Given the description of an element on the screen output the (x, y) to click on. 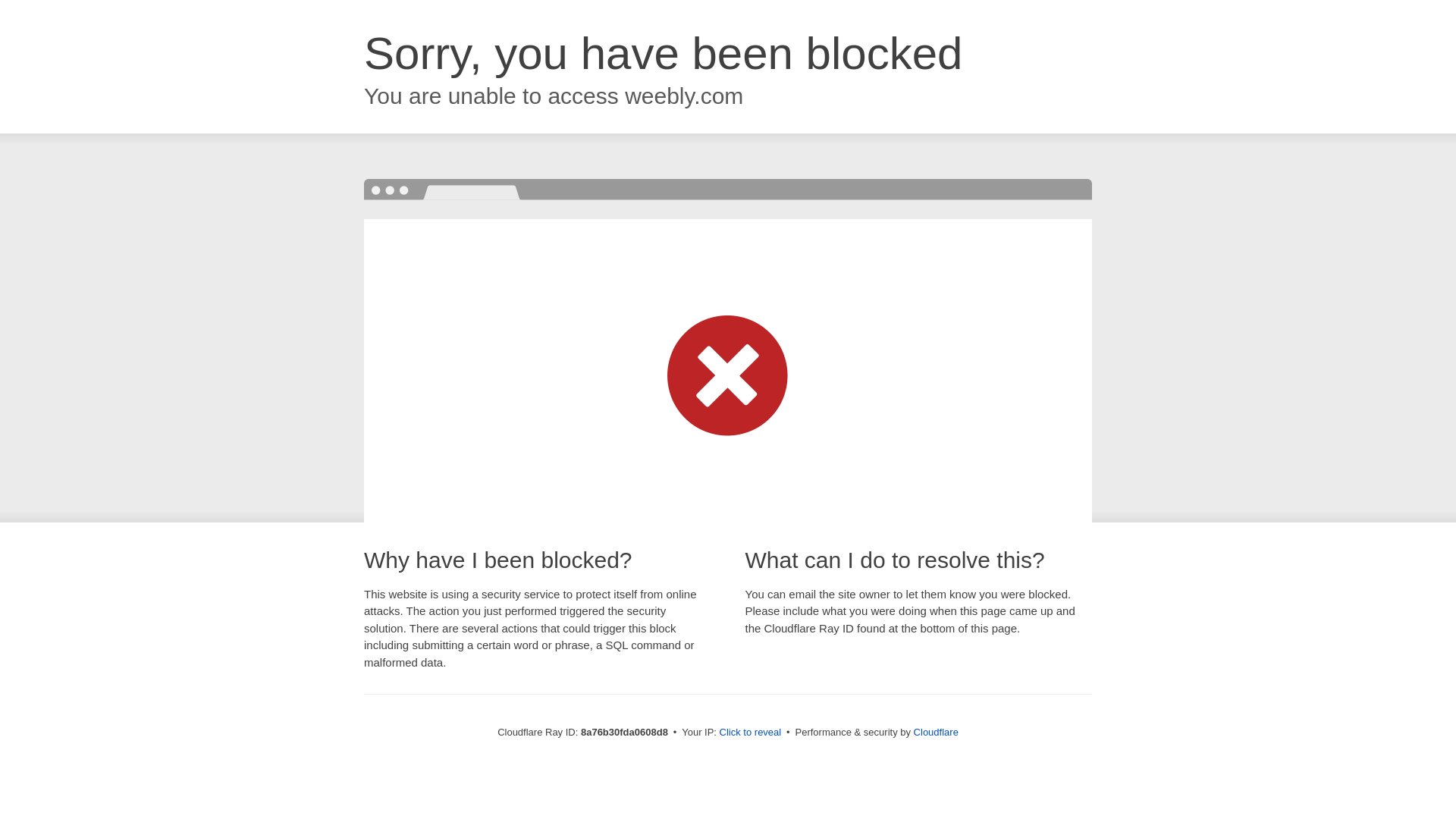
Click to reveal (750, 732)
Cloudflare (936, 731)
